Given the description of an element on the screen output the (x, y) to click on. 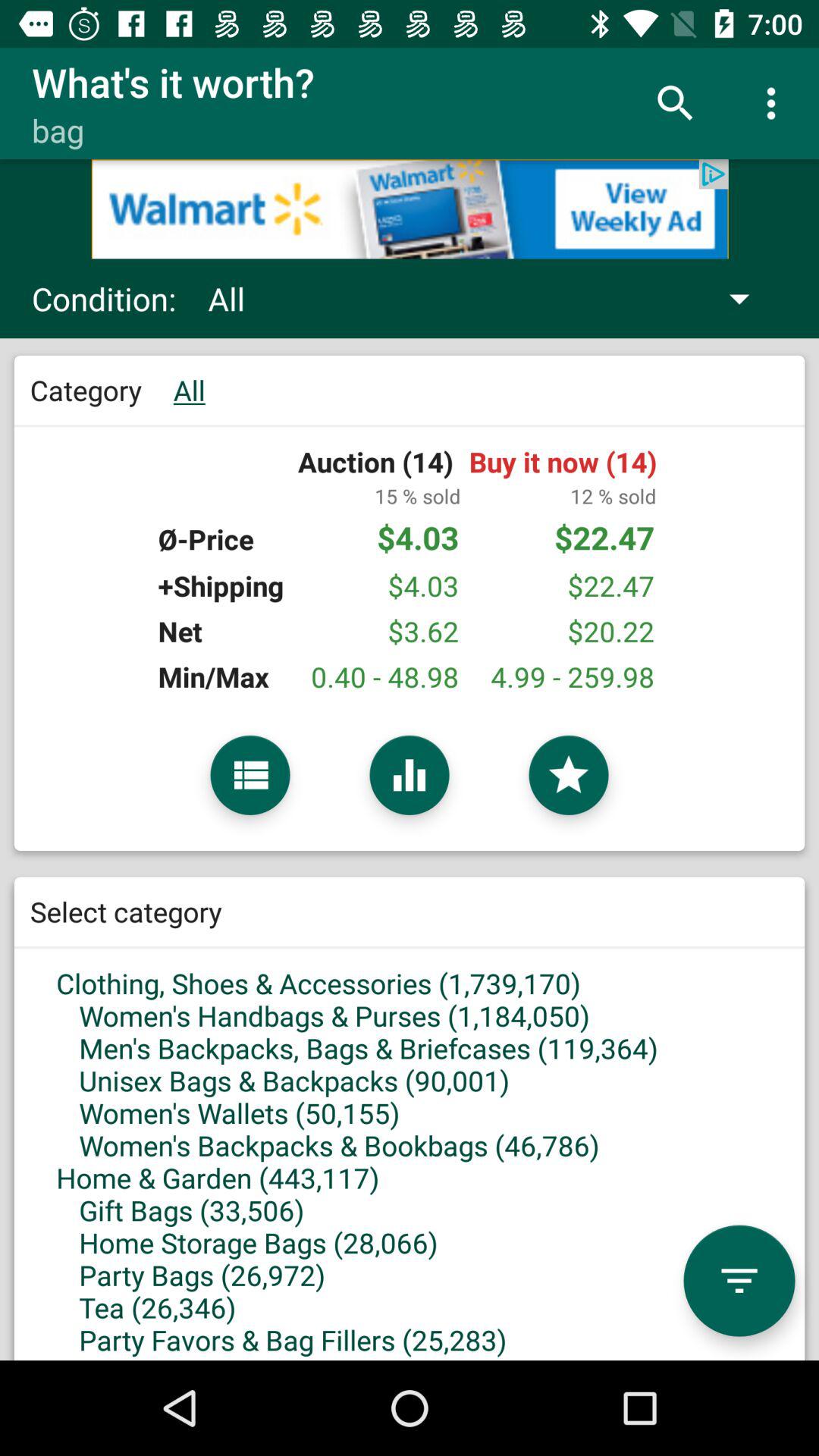
google advertisements (409, 208)
